Given the description of an element on the screen output the (x, y) to click on. 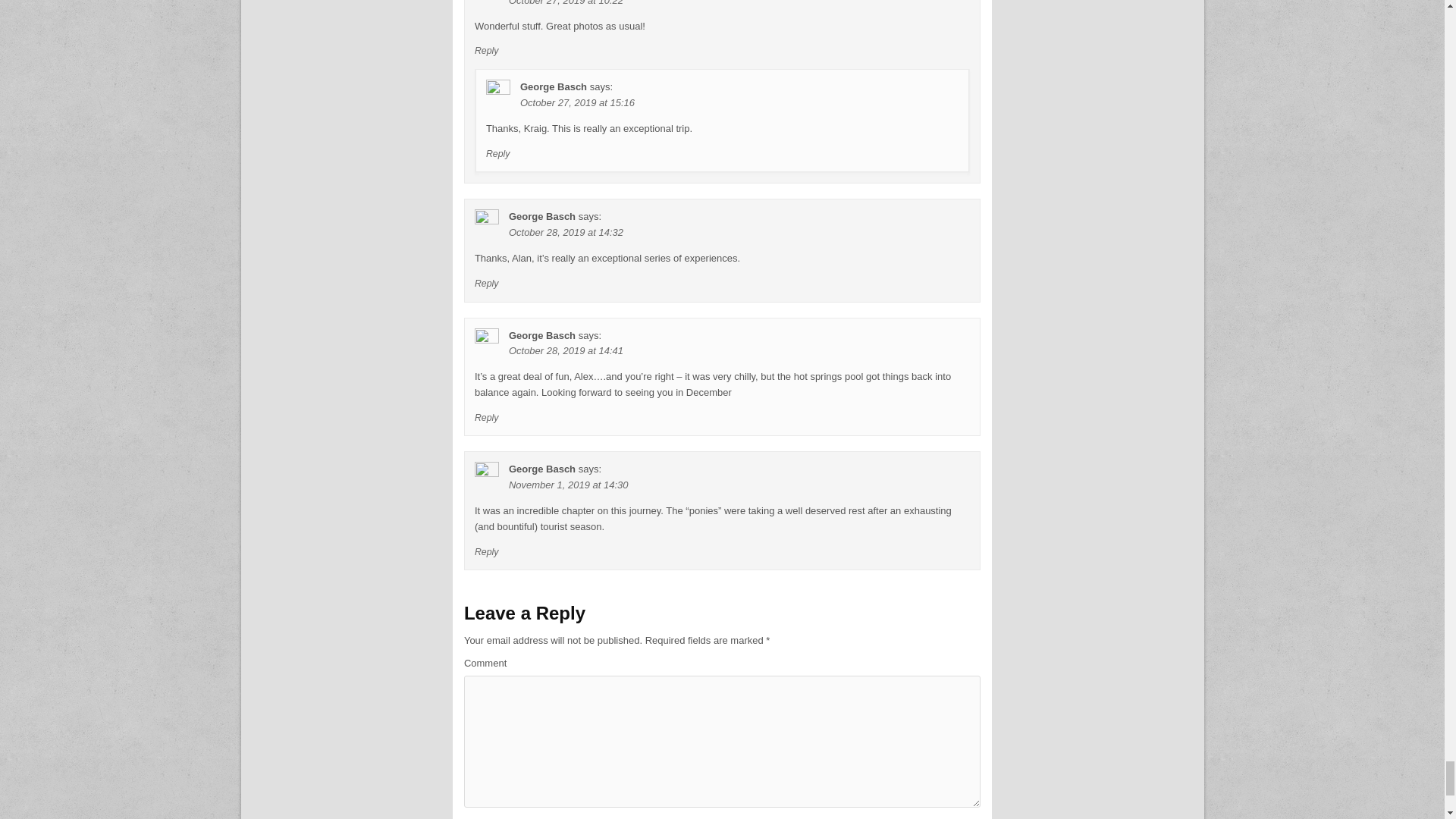
Reply (486, 283)
Reply (486, 417)
October 28, 2019 at 14:41 (565, 350)
October 27, 2019 at 15:16 (576, 102)
October 27, 2019 at 10:22 (565, 2)
Reply (486, 552)
Reply (486, 50)
November 1, 2019 at 14:30 (568, 484)
Reply (498, 153)
October 28, 2019 at 14:32 (565, 232)
